Given the description of an element on the screen output the (x, y) to click on. 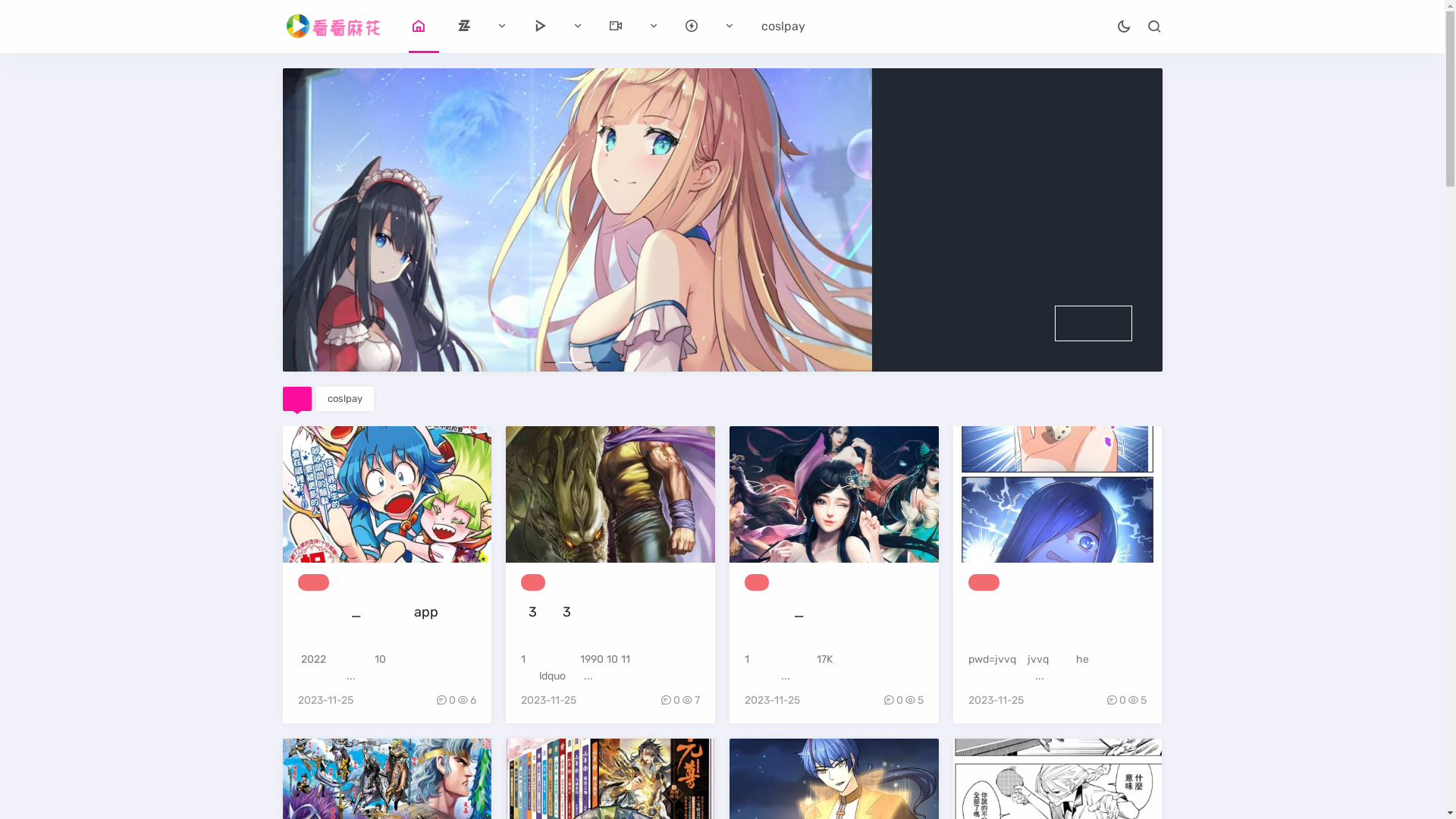
coslpay Element type: text (344, 398)
coslpay Element type: text (783, 25)
